Given the description of an element on the screen output the (x, y) to click on. 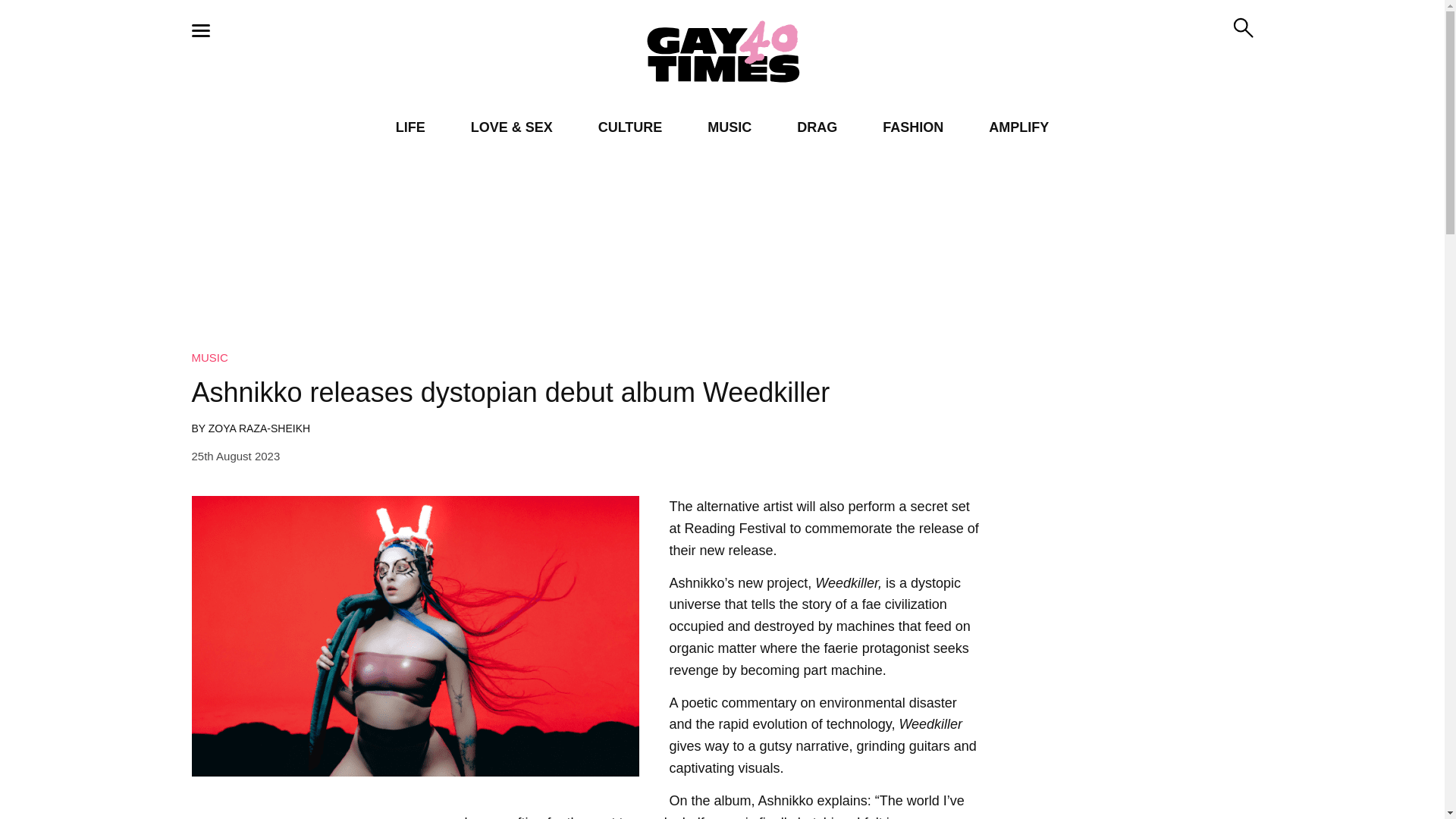
MUSIC (729, 127)
ZOYA RAZA-SHEIKH (259, 428)
DRAG (816, 127)
LIFE (410, 127)
CULTURE (630, 127)
MUSIC (208, 357)
FASHION (912, 127)
AMPLIFY (1018, 127)
